Given the description of an element on the screen output the (x, y) to click on. 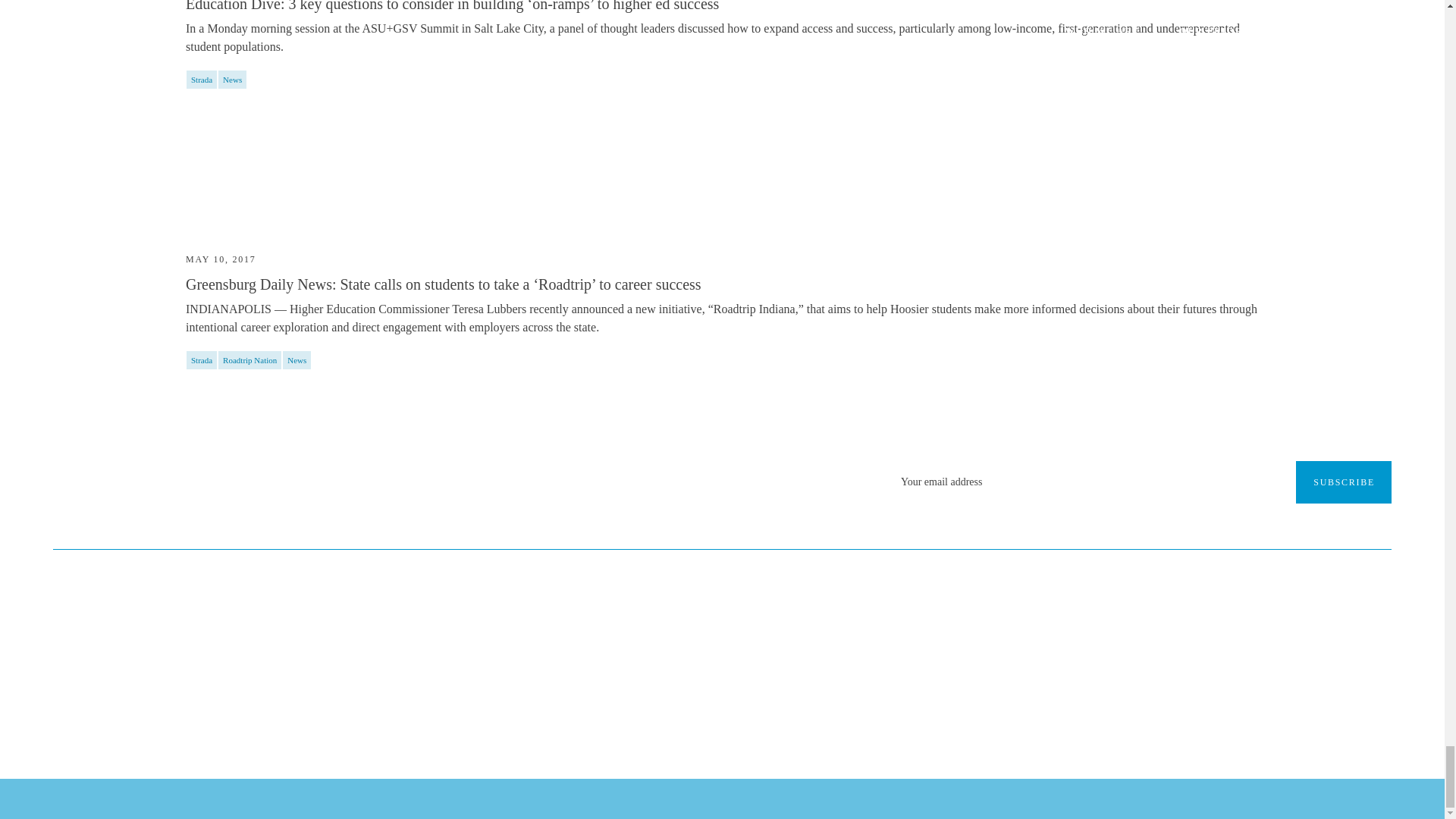
Social (783, 719)
Group 11 (702, 721)
Subscribe (1343, 482)
Group 12 (742, 721)
Social (701, 719)
Social (659, 719)
Social (742, 719)
Group 2 (783, 721)
Group 13 (660, 721)
